Given the description of an element on the screen output the (x, y) to click on. 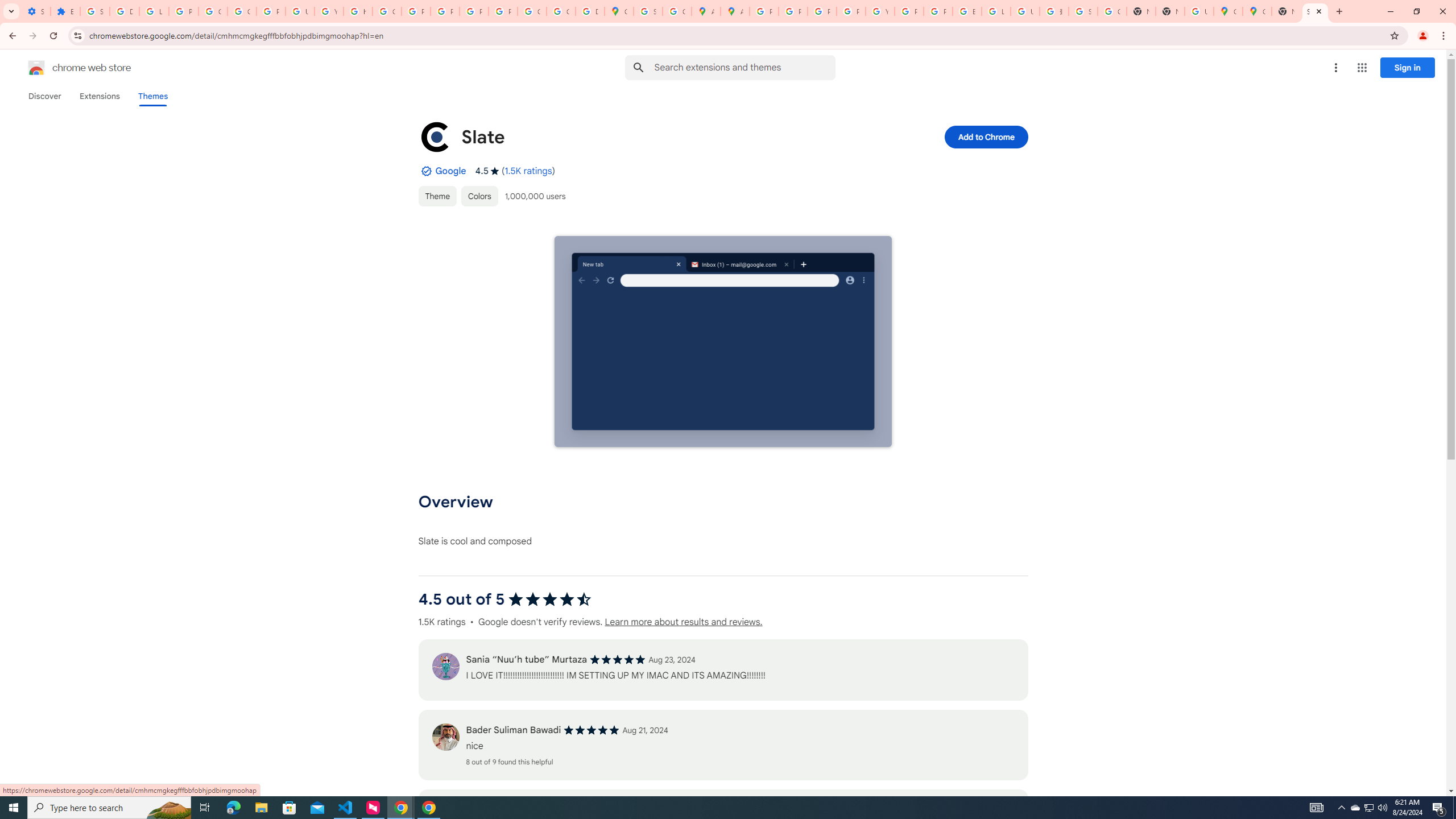
Create your Google Account (677, 11)
Themes (152, 95)
Item media 1 screenshot (722, 341)
Colors (479, 195)
Search input (744, 67)
Discover (43, 95)
Google Account Help (212, 11)
New Tab (1286, 11)
Use Google Maps in Space - Google Maps Help (1198, 11)
